Given the description of an element on the screen output the (x, y) to click on. 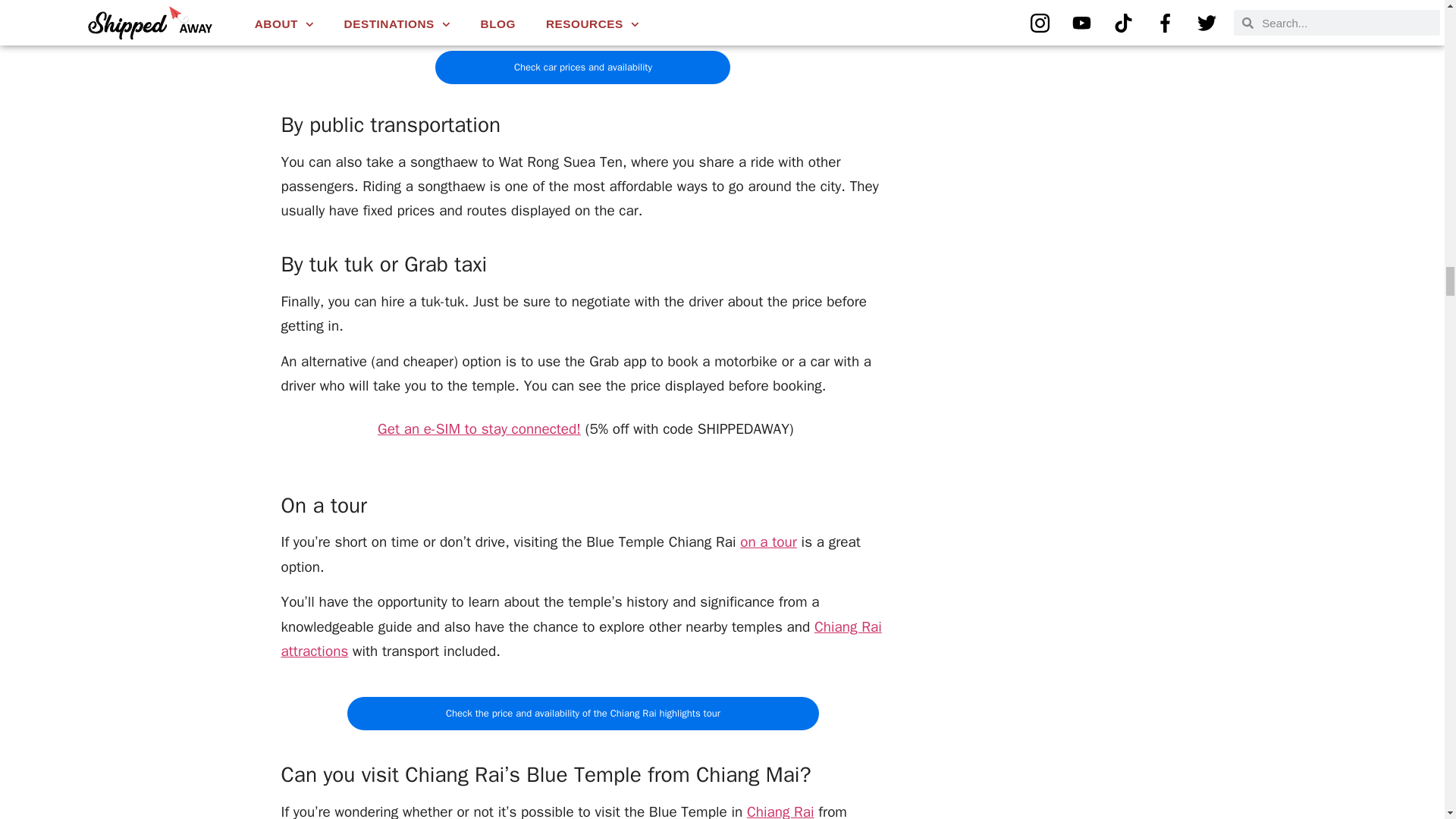
Chiang Rai Full Day Customizable Private Tour (767, 542)
Thailand eSIM (478, 429)
Chiang Rai Car Rental (582, 66)
